Given the description of an element on the screen output the (x, y) to click on. 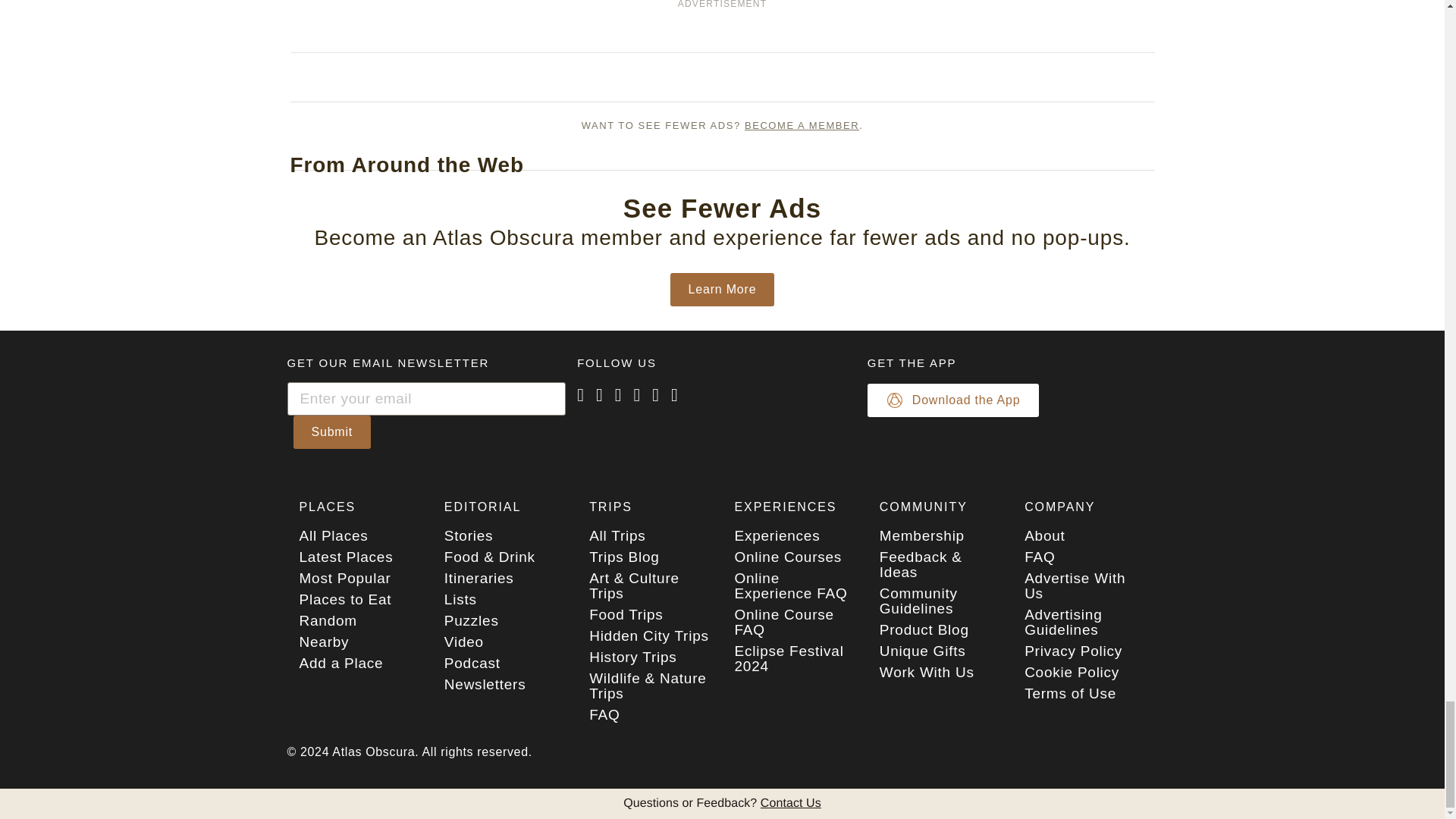
Submit (331, 431)
